Given the description of an element on the screen output the (x, y) to click on. 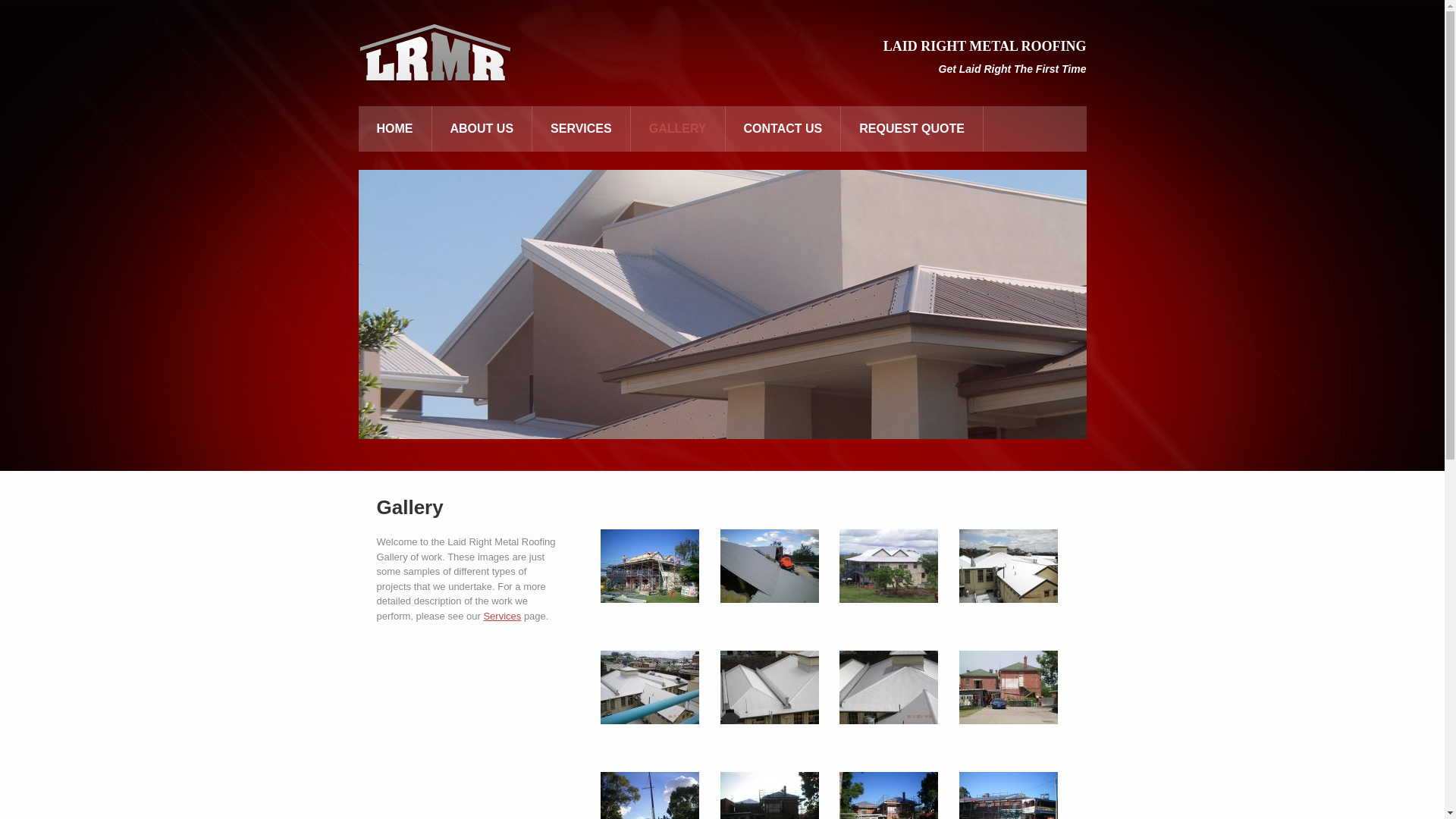
SERVICES Element type: text (581, 128)
REQUEST QUOTE Element type: text (911, 128)
ABOUT US Element type: text (482, 128)
HOME Element type: text (393, 128)
Services Element type: text (501, 615)
CONTACT US Element type: text (782, 128)
GALLERY Element type: text (677, 128)
